Given the description of an element on the screen output the (x, y) to click on. 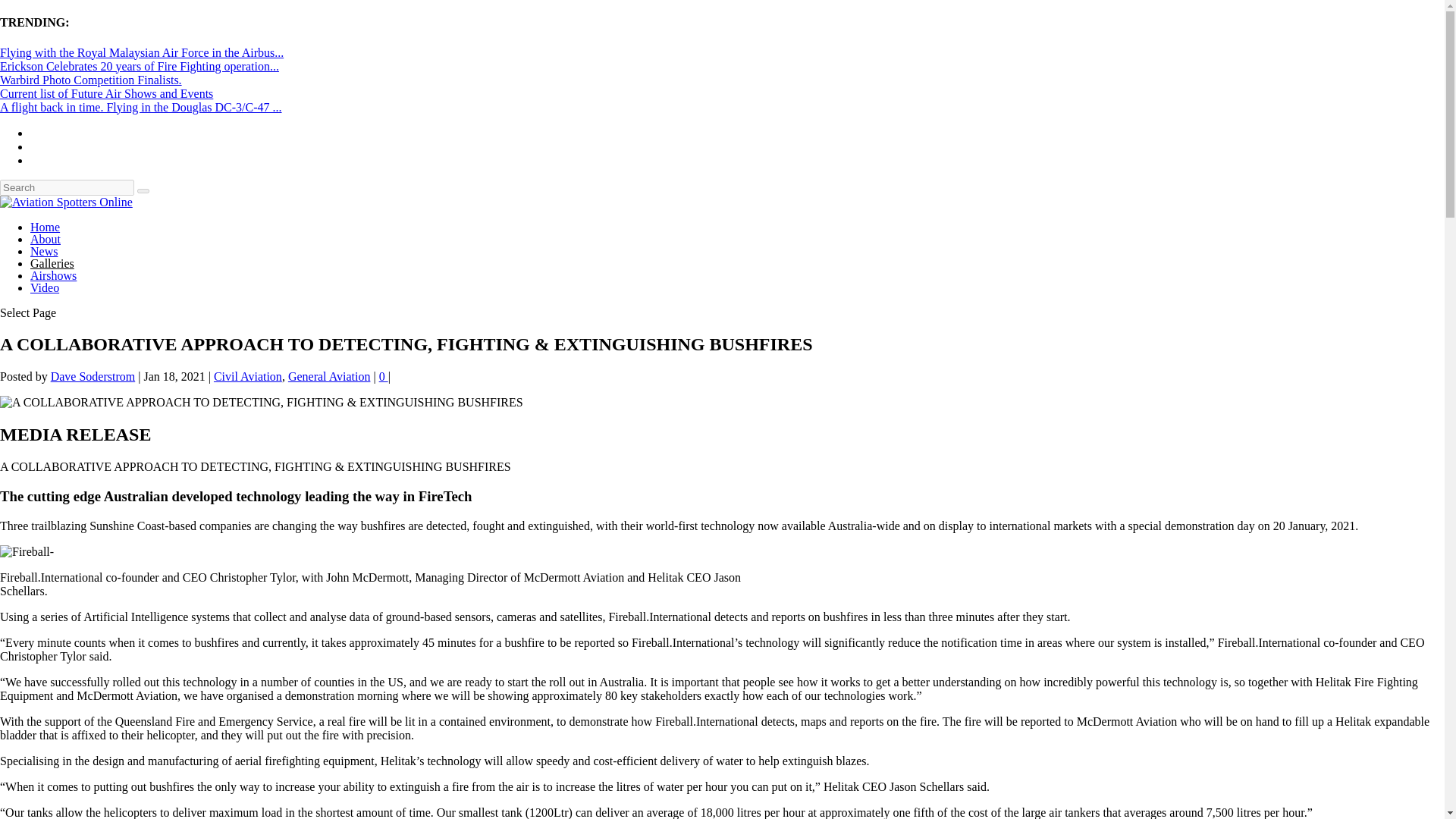
General Aviation (329, 376)
Airshows (53, 275)
About (45, 238)
News (44, 250)
Warbird Photo Competition Finalists. (91, 79)
Posts by Dave Soderstrom (92, 376)
Video (44, 287)
Galleries (52, 263)
Flying with the Royal Malaysian Air Force in the Airbus... (141, 51)
Search for: (66, 187)
Home (44, 226)
Current list of Future Air Shows and Events (106, 92)
Dave Soderstrom (92, 376)
Civil Aviation (248, 376)
Erickson Celebrates 20 years of Fire Fighting operation... (139, 65)
